Given the description of an element on the screen output the (x, y) to click on. 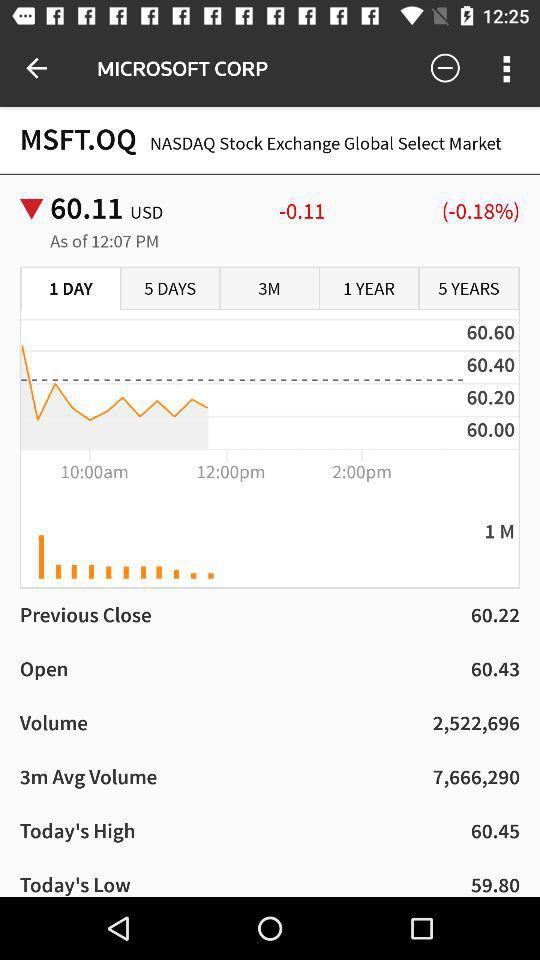
choose the item to the right of the 3m (369, 289)
